Given the description of an element on the screen output the (x, y) to click on. 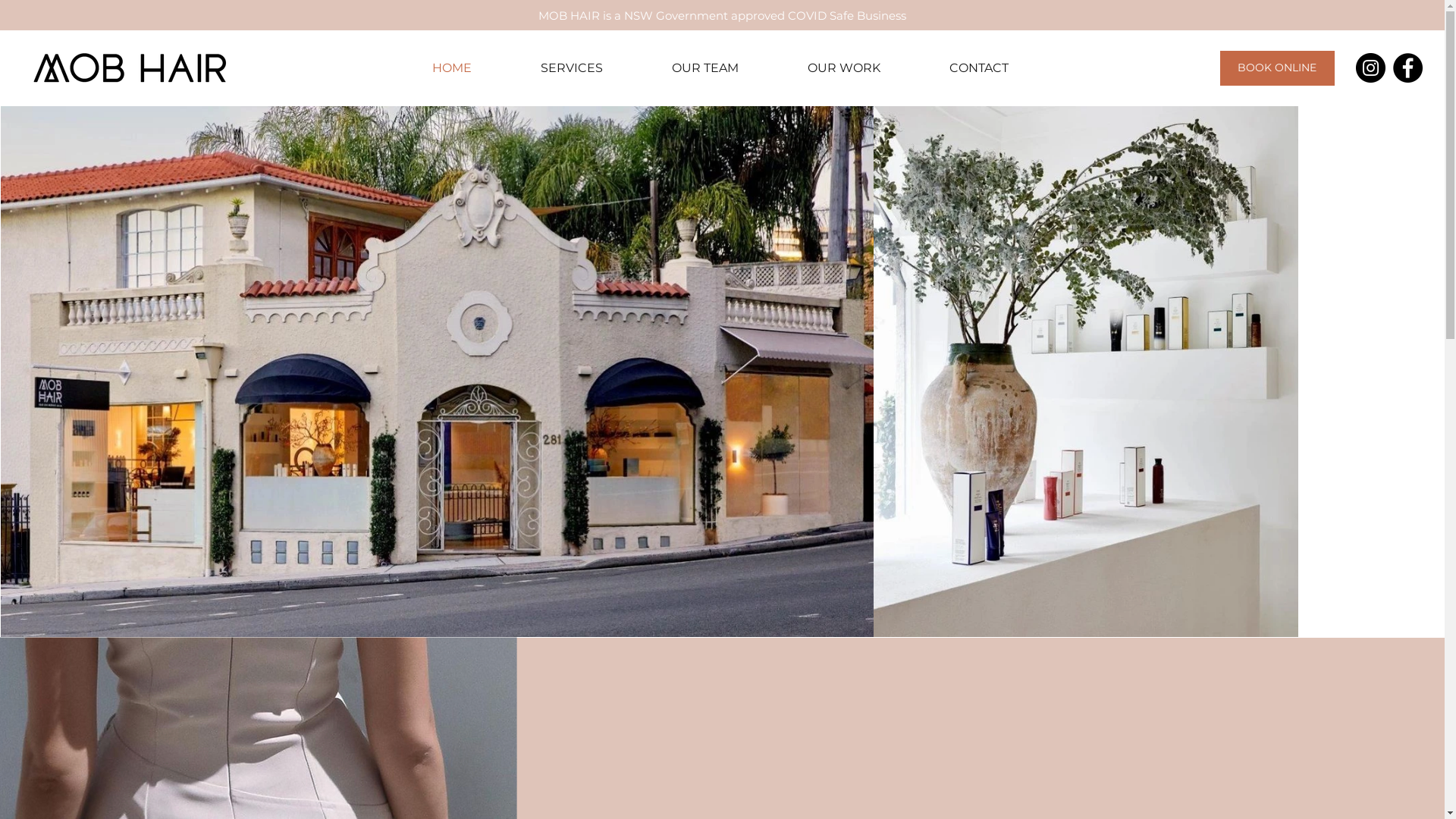
BOOK ONLINE Element type: text (1277, 67)
HOME Element type: text (452, 68)
SERVICES Element type: text (571, 68)
OUR TEAM Element type: text (705, 68)
OUR WORK Element type: text (844, 68)
CONTACT Element type: text (979, 68)
